Given the description of an element on the screen output the (x, y) to click on. 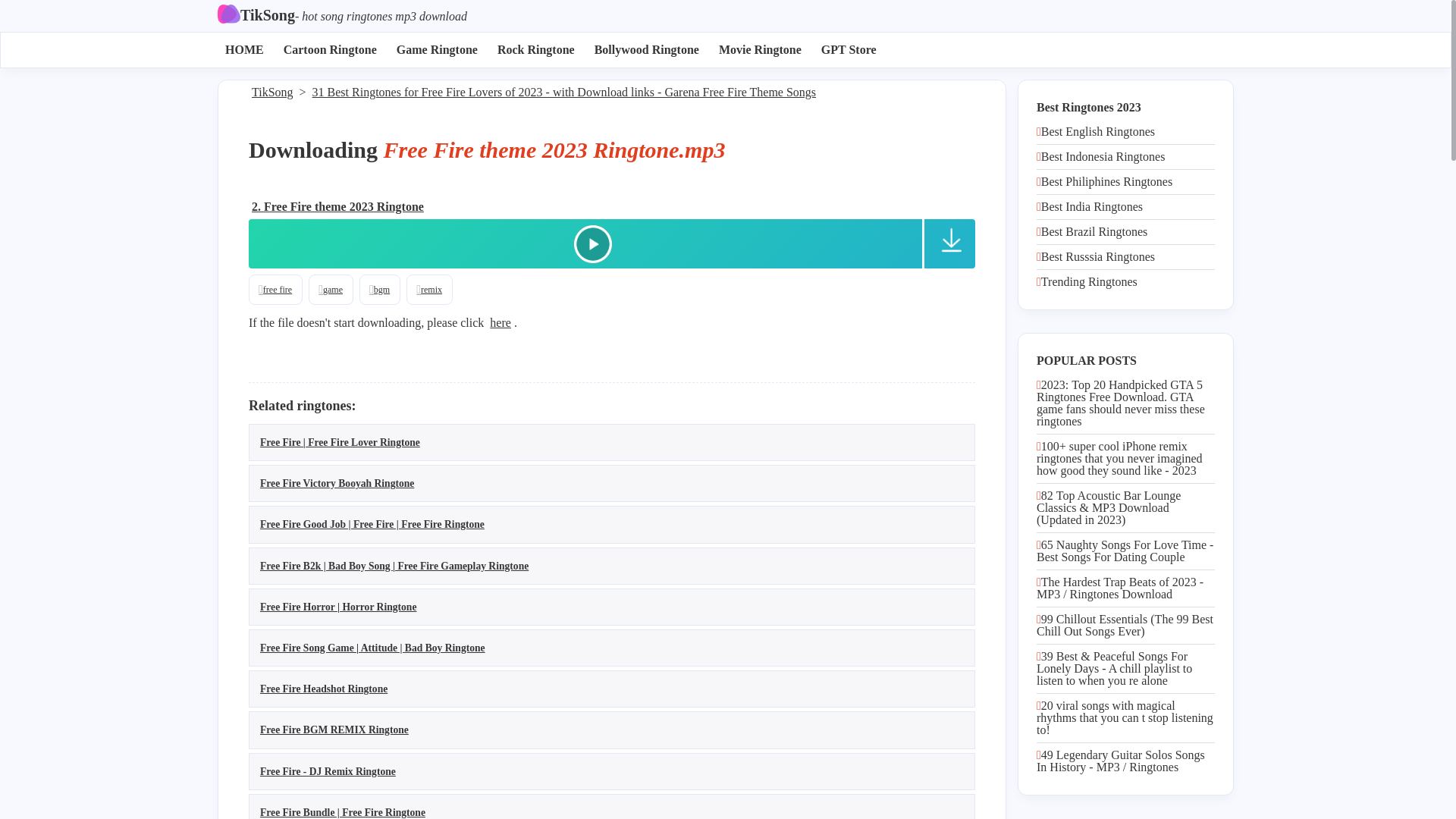
Free Fire Headshot Ringtone (323, 688)
 TikSong (255, 15)
game (330, 291)
Free Fire - DJ Remix Ringtone (327, 771)
free fire (275, 293)
2. Free Fire theme 2023 Ringtone (337, 210)
bgm (379, 291)
remix (429, 291)
Free Fire BGM REMIX Ringtone (334, 729)
TikSong (272, 97)
here (499, 323)
Free Fire Victory Booyah Ringtone (336, 483)
